Given the description of an element on the screen output the (x, y) to click on. 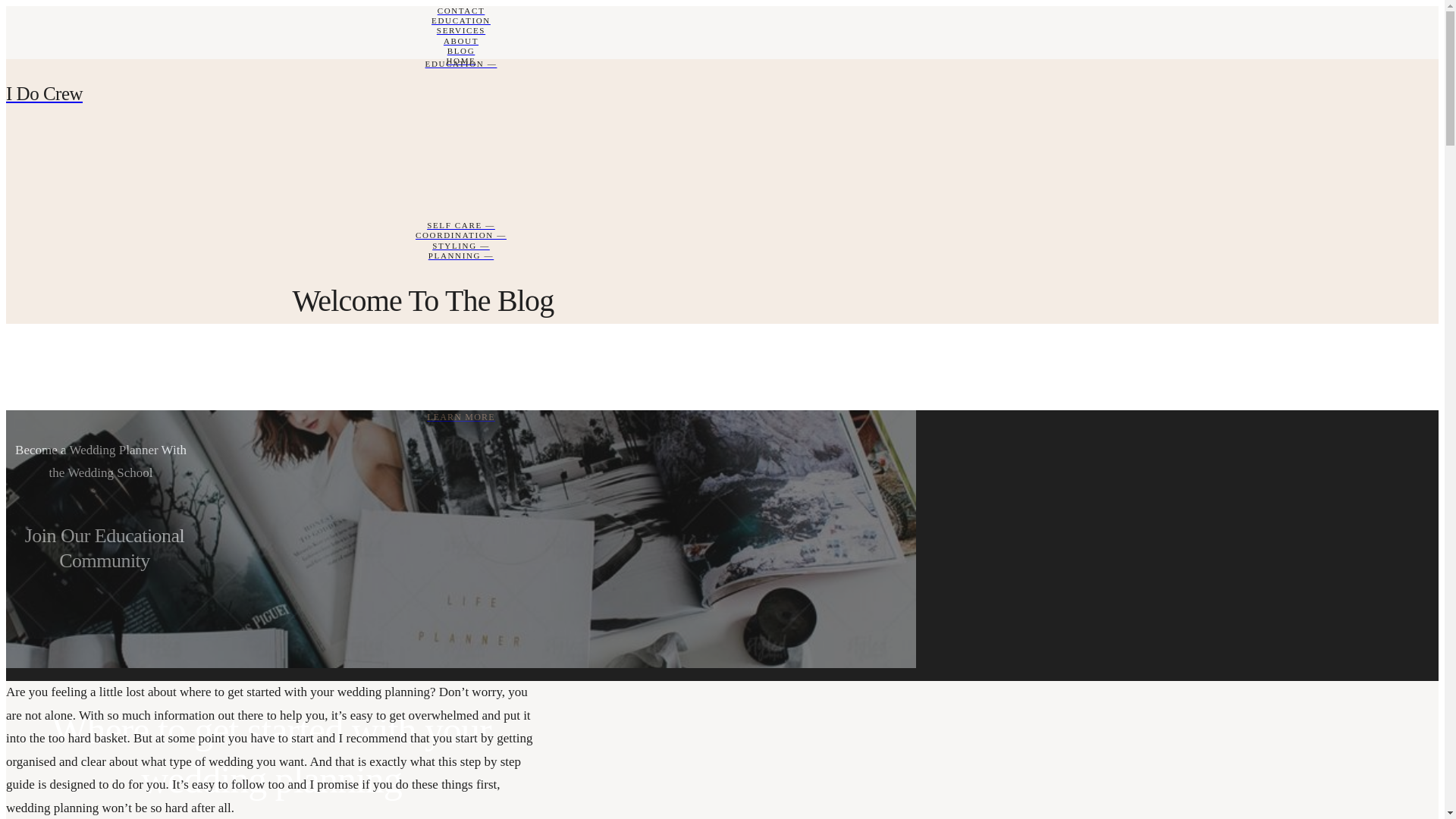
HOME Element type: text (461, 60)
SERVICES Element type: text (461, 30)
CONTACT Element type: text (461, 10)
LEARN MORE Element type: text (461, 417)
ABOUT Element type: text (461, 41)
EDUCATION Element type: text (461, 20)
BLOG Element type: text (461, 51)
I Do Crew Element type: text (461, 93)
